Given the description of an element on the screen output the (x, y) to click on. 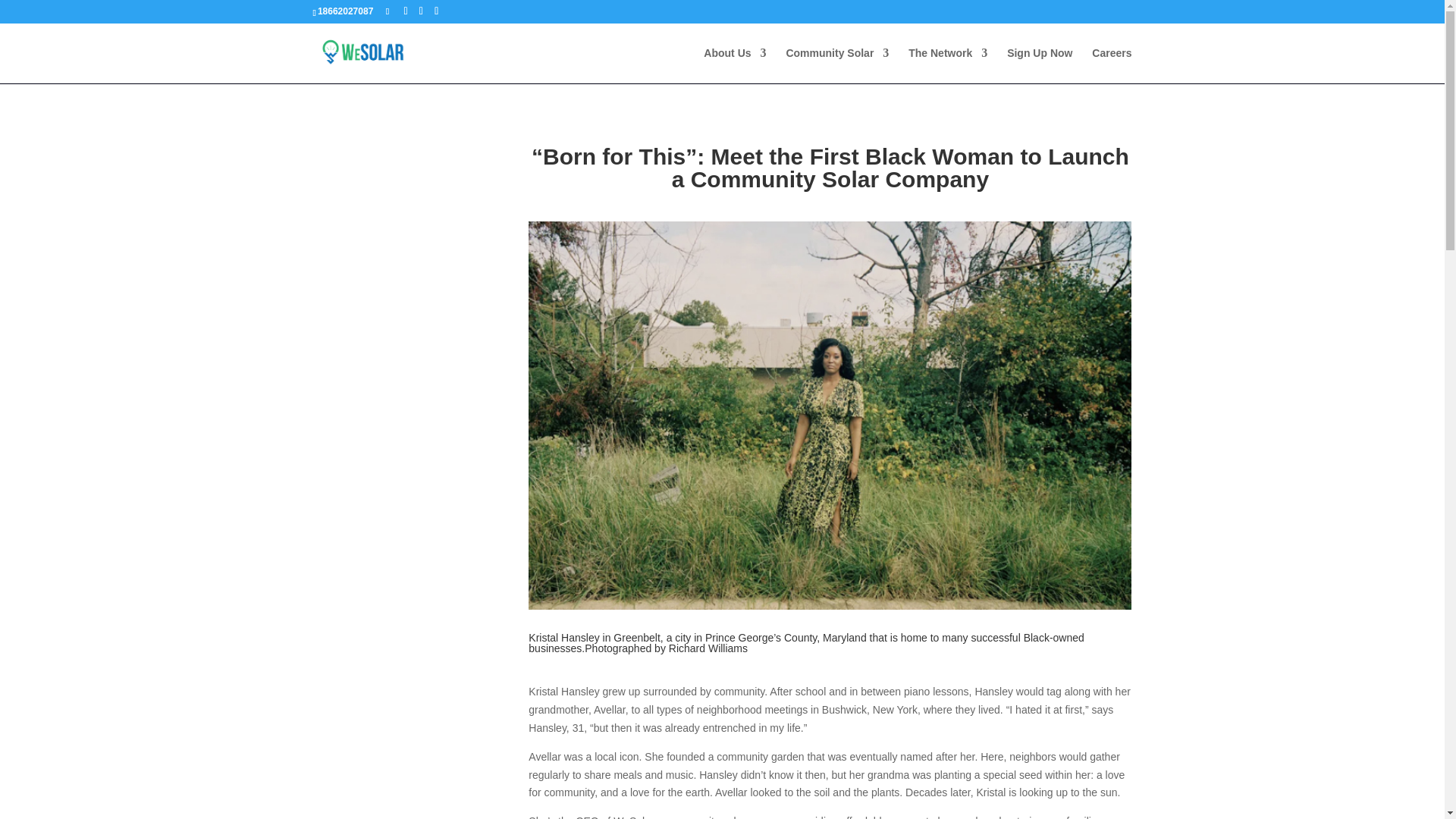
The Network (947, 65)
Sign Up Now (1039, 65)
Careers (1111, 65)
About Us (734, 65)
Community Solar (837, 65)
